Given the description of an element on the screen output the (x, y) to click on. 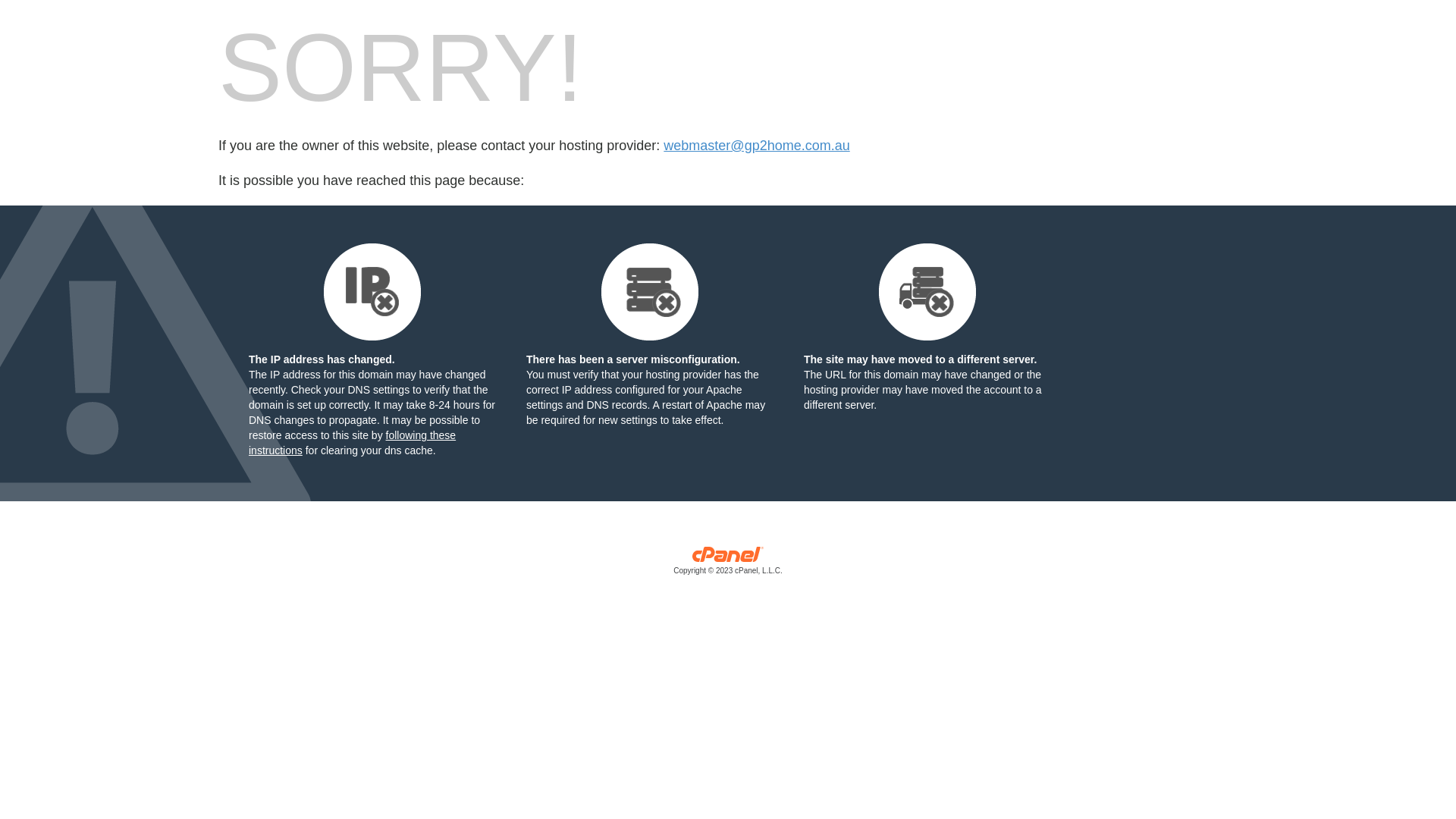
webmaster@gp2home.com.au Element type: text (756, 145)
following these instructions Element type: text (351, 442)
